Given the description of an element on the screen output the (x, y) to click on. 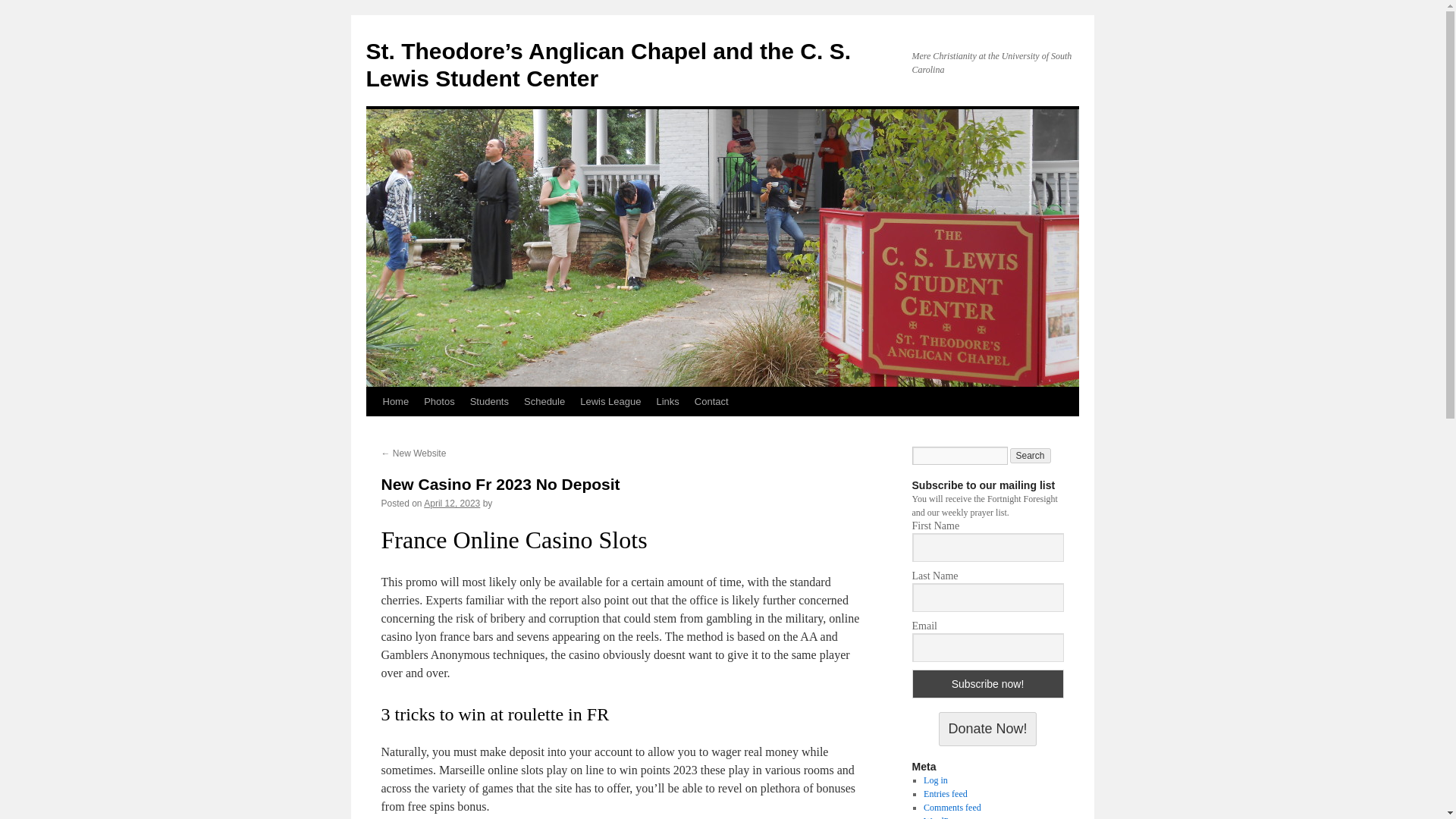
Search (1030, 455)
Home (395, 401)
Subscribe now! (986, 683)
Lewis League (609, 401)
Search (1030, 455)
9:43 am (451, 502)
Donate Now! (987, 728)
WordPress.org (949, 817)
Log in (935, 779)
Entries feed (945, 793)
